Given the description of an element on the screen output the (x, y) to click on. 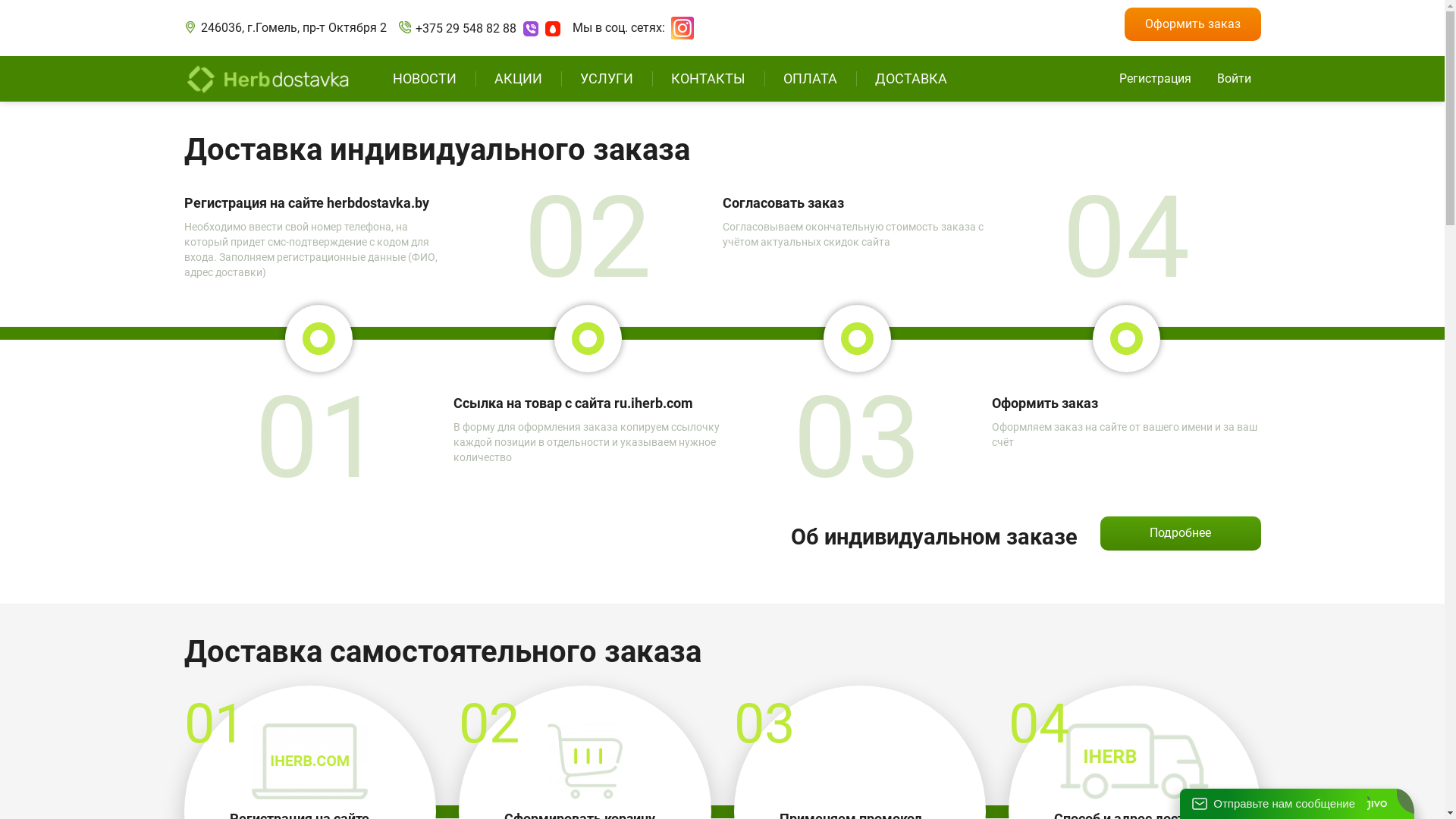
+375 29 548 82 88 Element type: text (465, 28)
VIBER: +375 29 548 82 88 Element type: hover (530, 28)
